Given the description of an element on the screen output the (x, y) to click on. 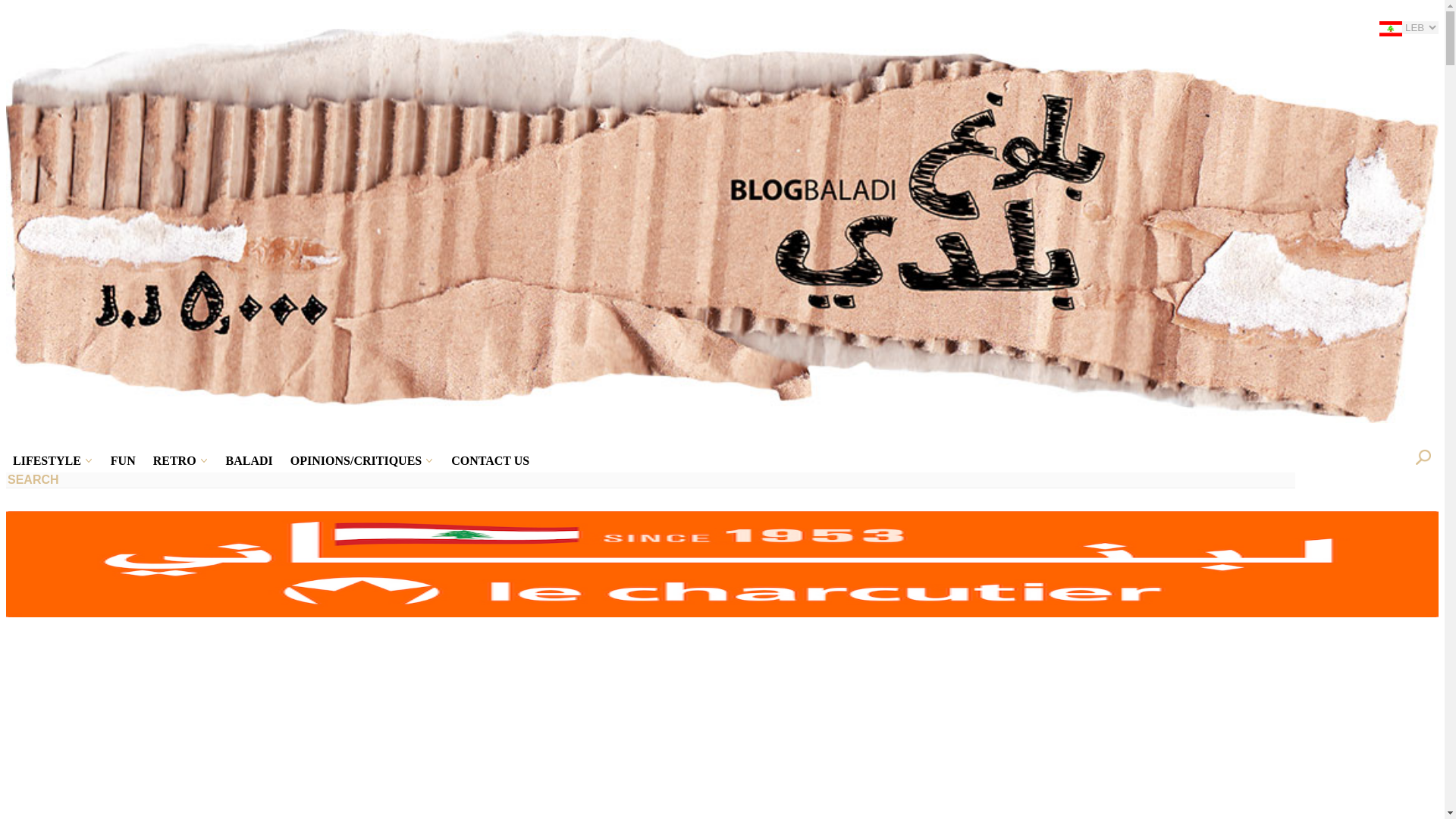
FUN (122, 460)
RETRO (175, 460)
LIFESTYLE (46, 460)
